Given the description of an element on the screen output the (x, y) to click on. 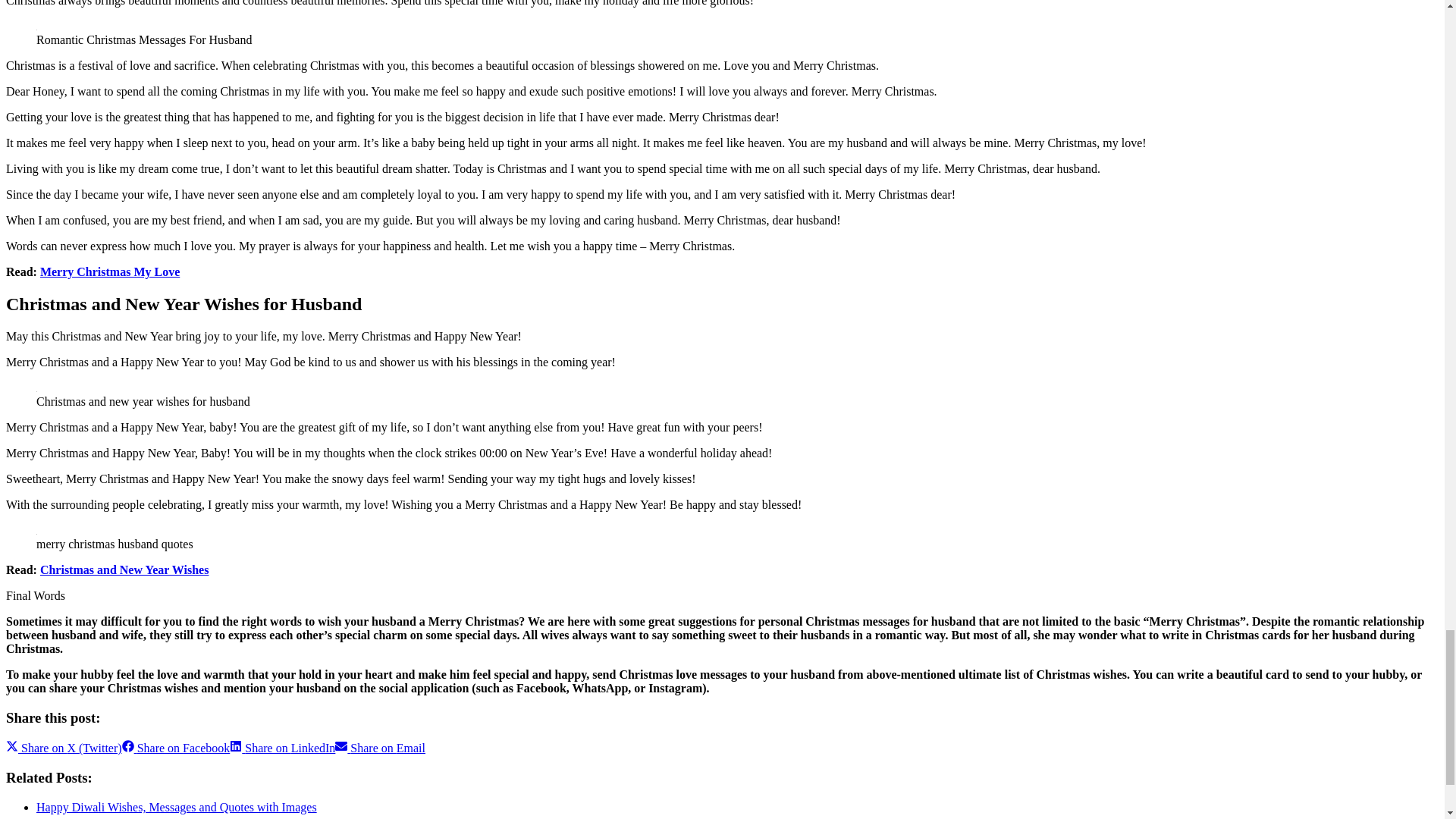
Share on Facebook (176, 748)
Share on LinkedIn (282, 748)
Share on Email (379, 748)
Christmas and New Year Wishes (124, 569)
Happy Diwali Wishes, Messages and Quotes with Images (176, 807)
Merry Christmas My Love (109, 271)
